Given the description of an element on the screen output the (x, y) to click on. 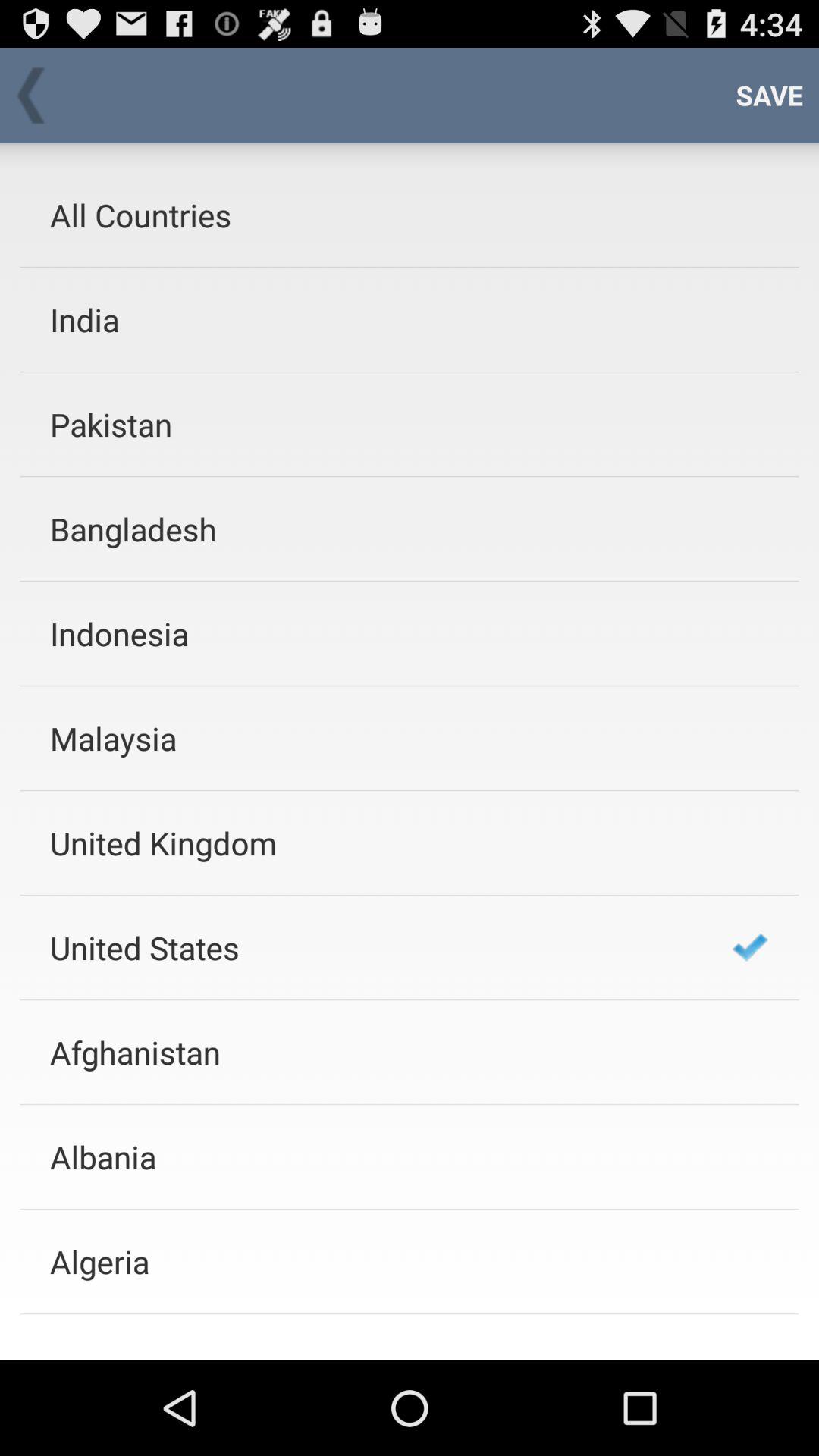
click item above afghanistan icon (371, 947)
